Given the description of an element on the screen output the (x, y) to click on. 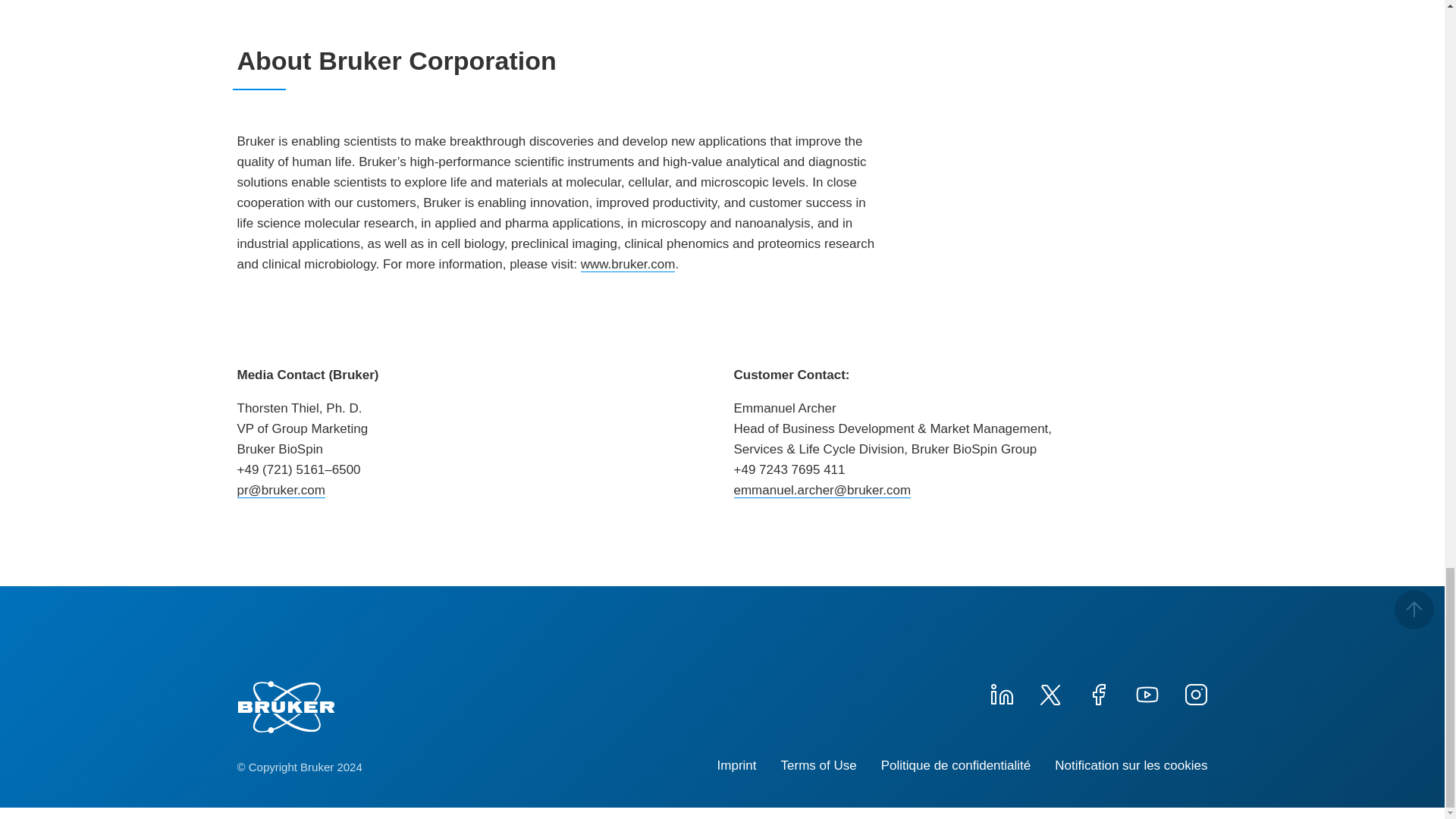
youtube (1146, 692)
twitter (1048, 692)
www.bruker.com (627, 264)
instagram (1194, 692)
linkedin (1000, 692)
facebook (1097, 692)
